Given the description of an element on the screen output the (x, y) to click on. 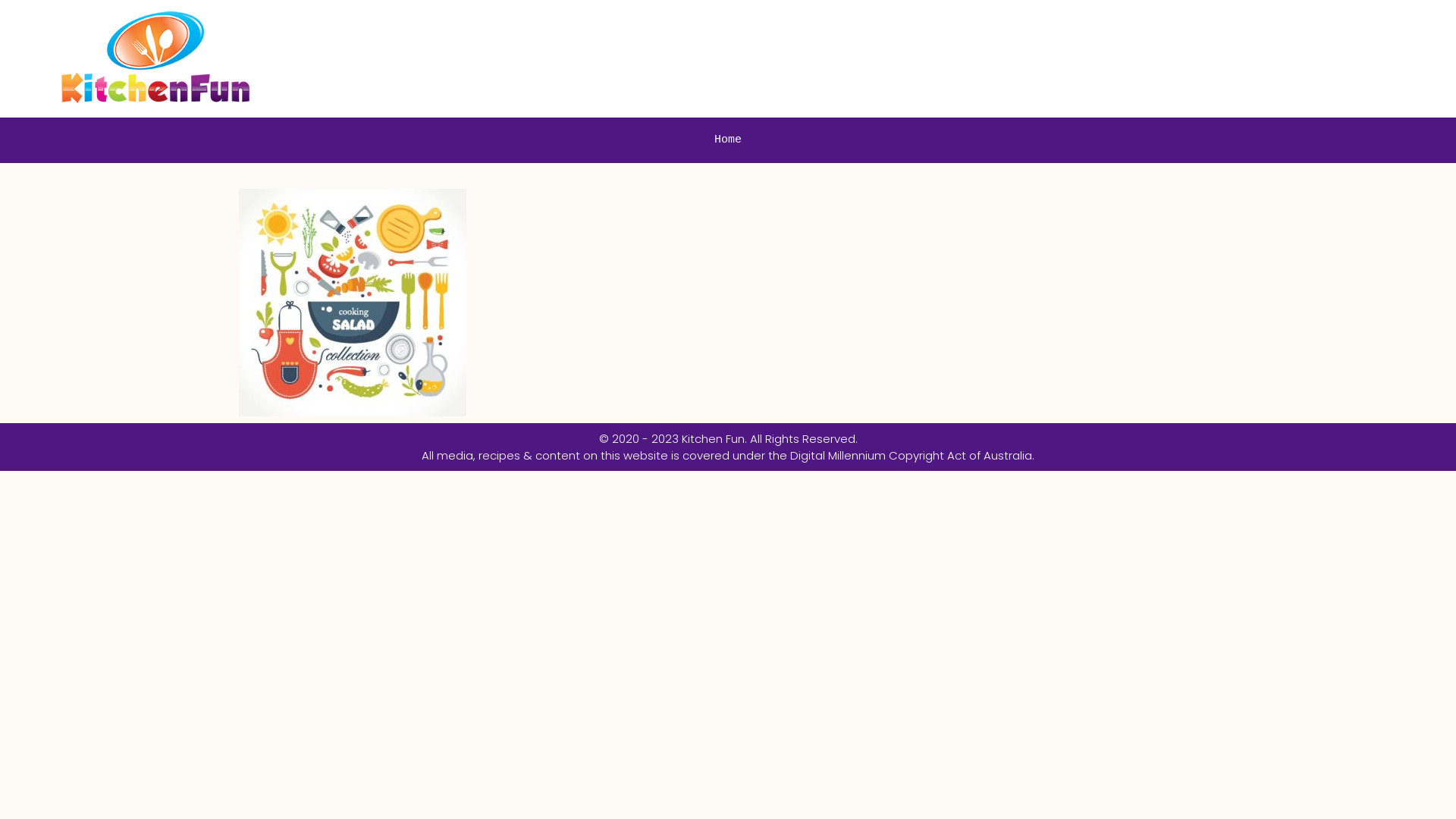
Home Element type: text (727, 140)
